Given the description of an element on the screen output the (x, y) to click on. 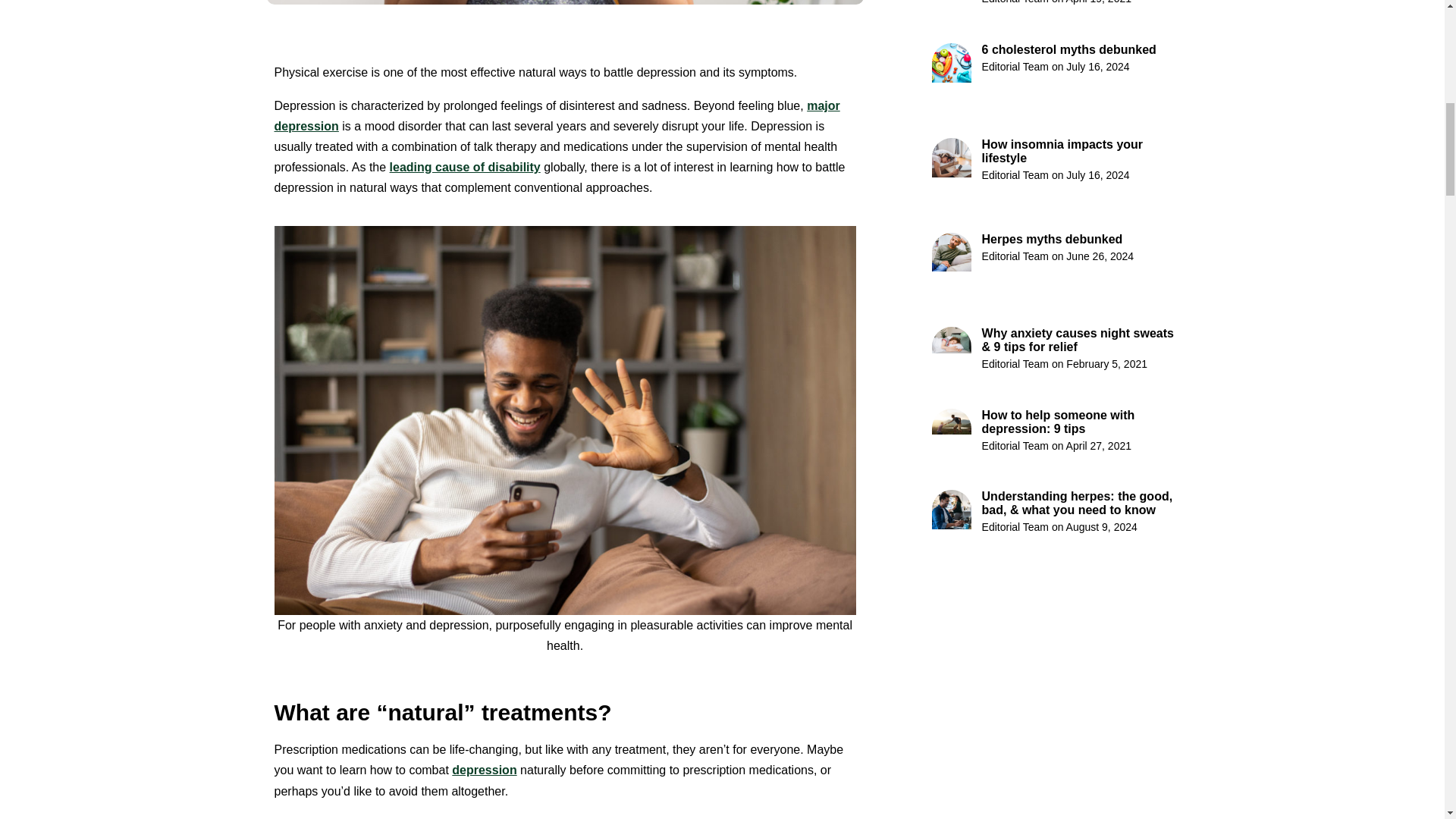
depression (483, 769)
leading cause of disability (465, 166)
major depression (557, 115)
